Given the description of an element on the screen output the (x, y) to click on. 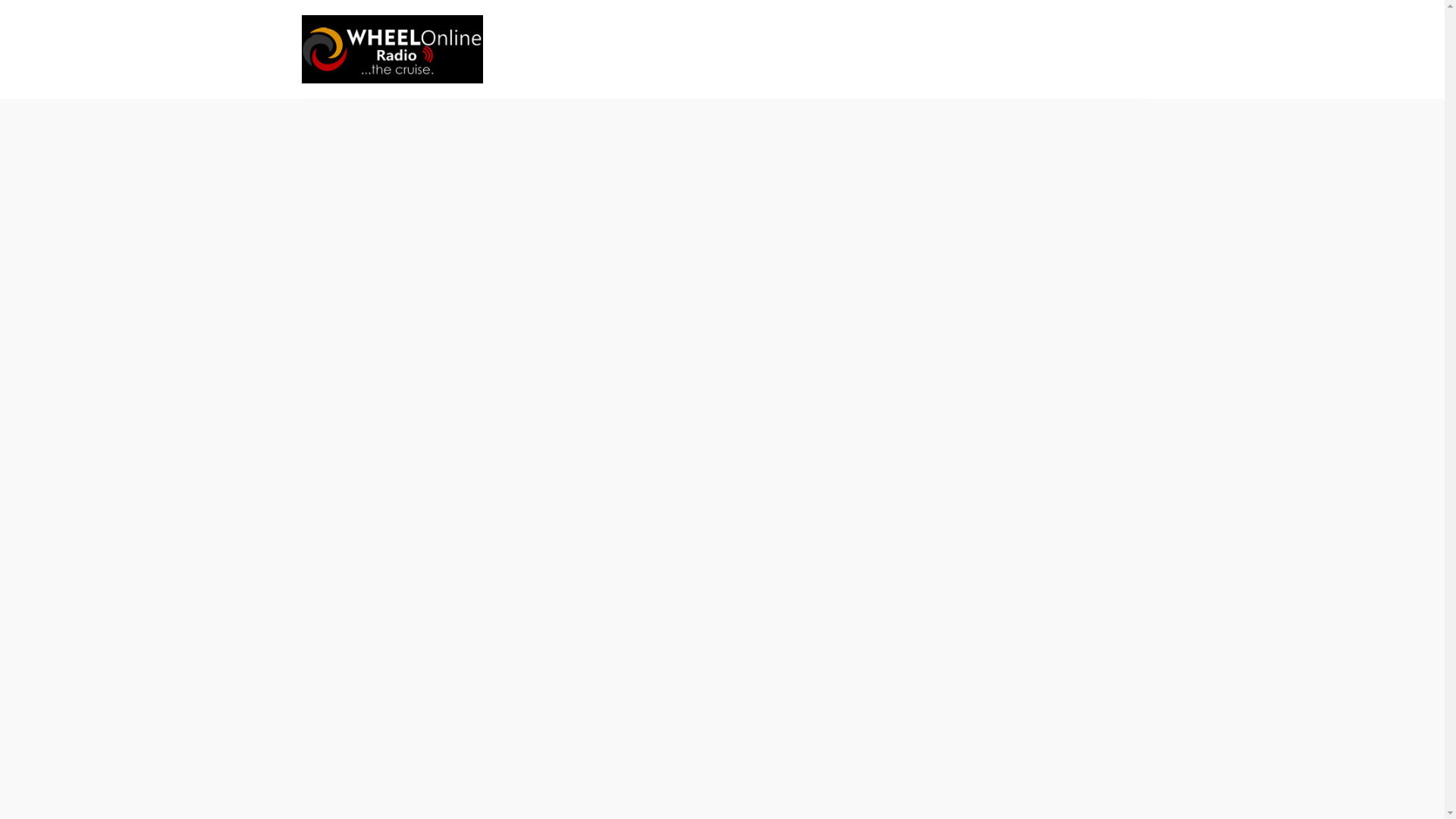
WheelOnlineRadio (392, 49)
